Given the description of an element on the screen output the (x, y) to click on. 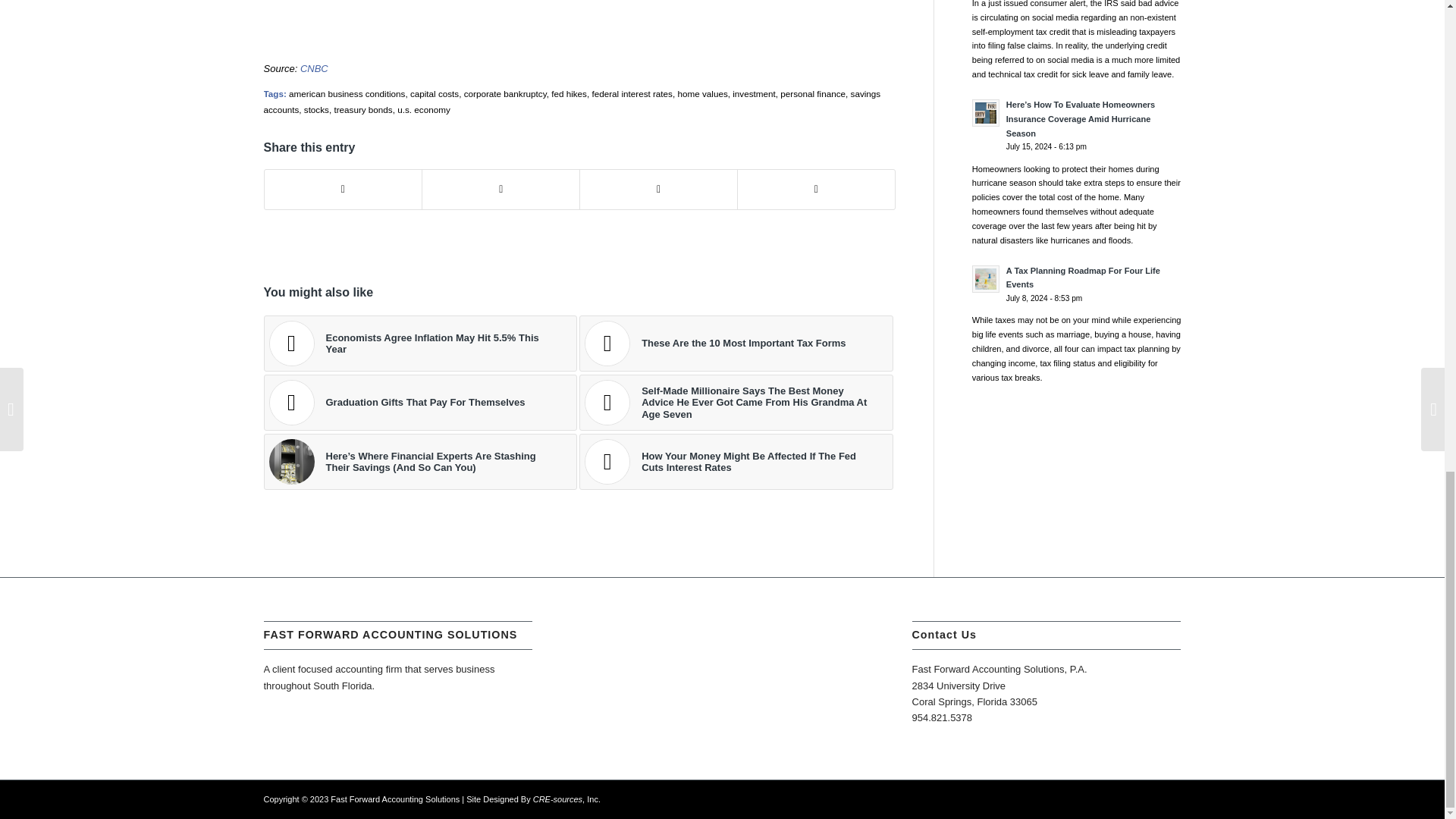
stocks (316, 109)
CNBC (314, 68)
fed hikes (568, 93)
Graduation Gifts That Pay For Themselves (420, 402)
home values (701, 93)
capital costs (434, 93)
treasury bonds (362, 109)
These Are the 10 Most Important Tax Forms (736, 343)
These Are the 10 Most Important Tax Forms (736, 343)
investment (754, 93)
